Given the description of an element on the screen output the (x, y) to click on. 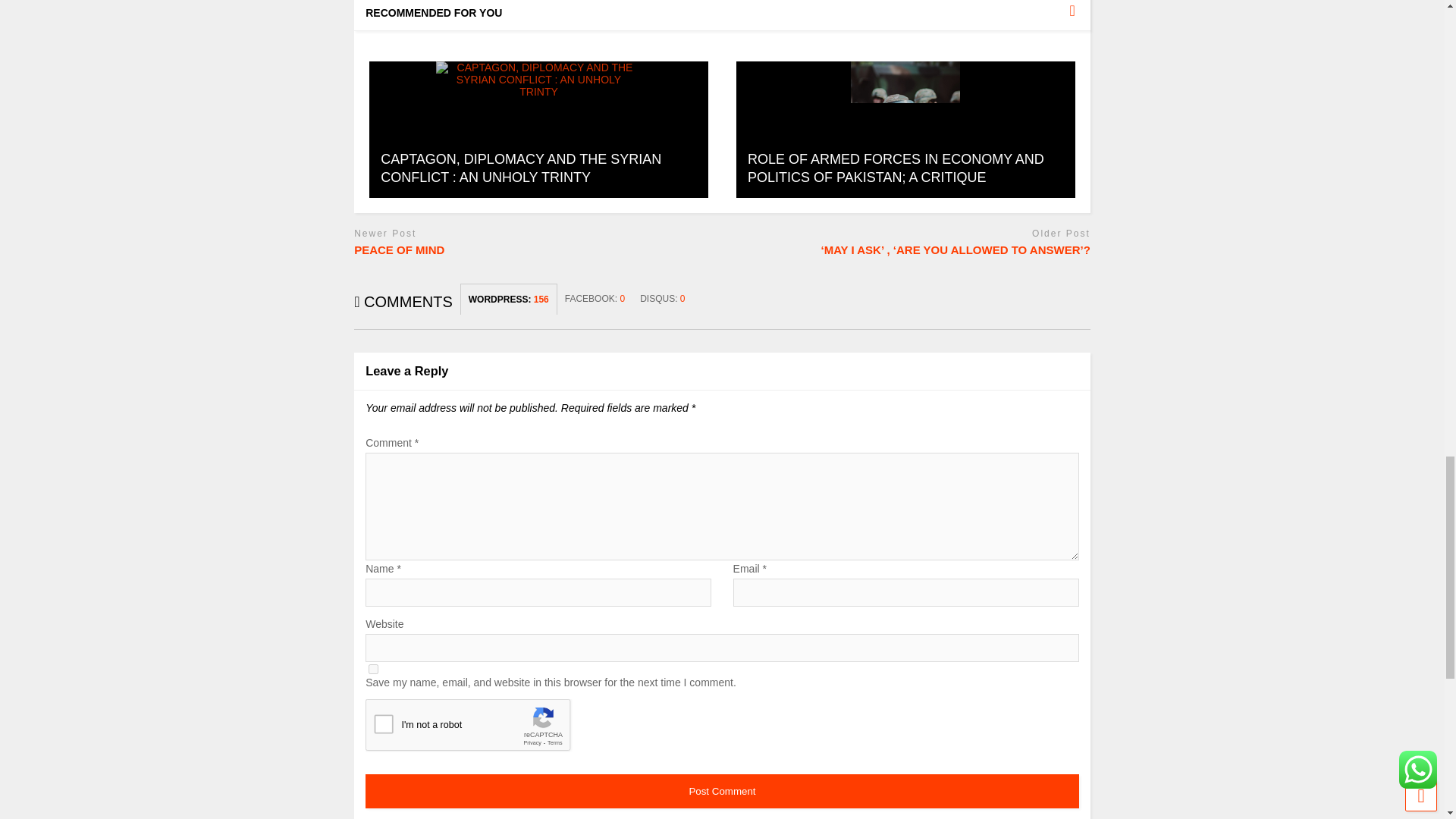
Click to read (538, 129)
yes (373, 669)
Post Comment (721, 790)
